Given the description of an element on the screen output the (x, y) to click on. 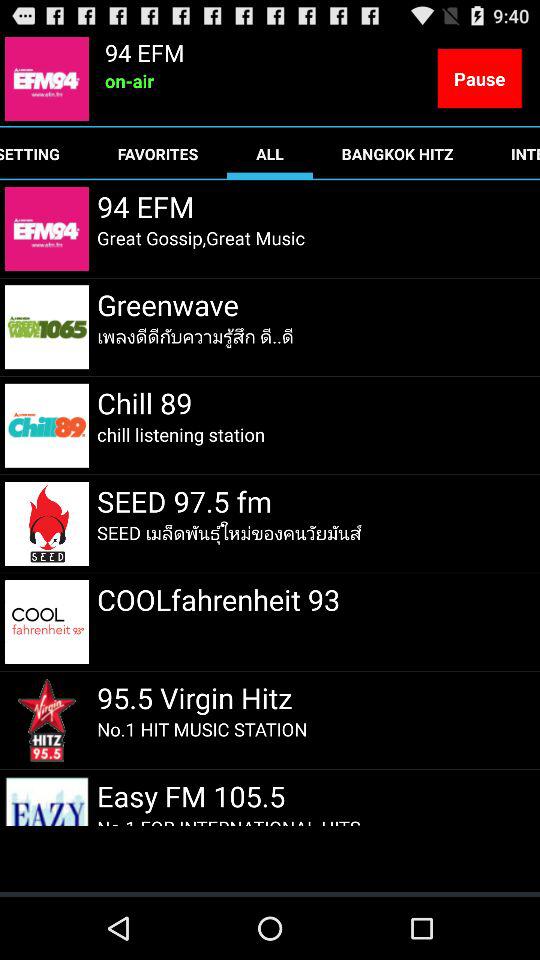
click favorites (157, 153)
